Given the description of an element on the screen output the (x, y) to click on. 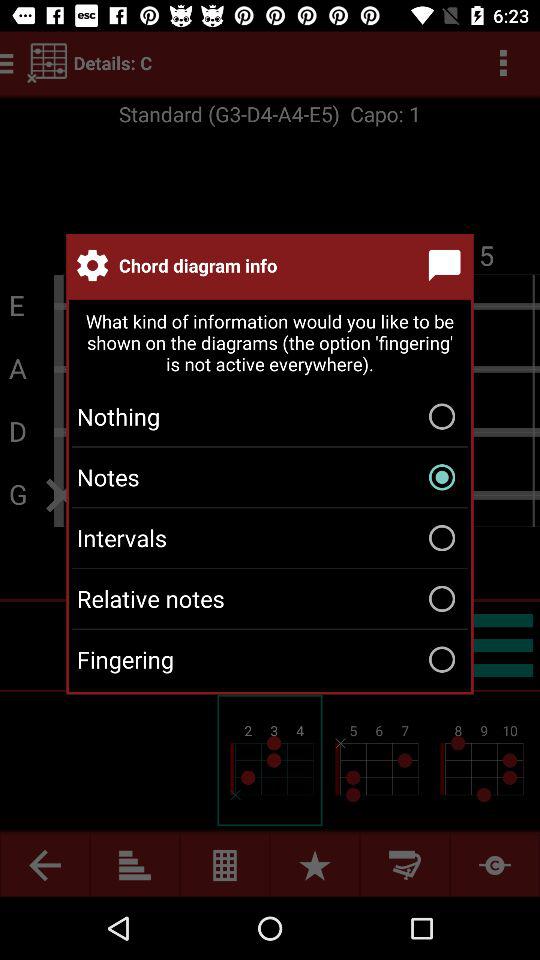
choose icon to the right of the chord diagram info (448, 265)
